Given the description of an element on the screen output the (x, y) to click on. 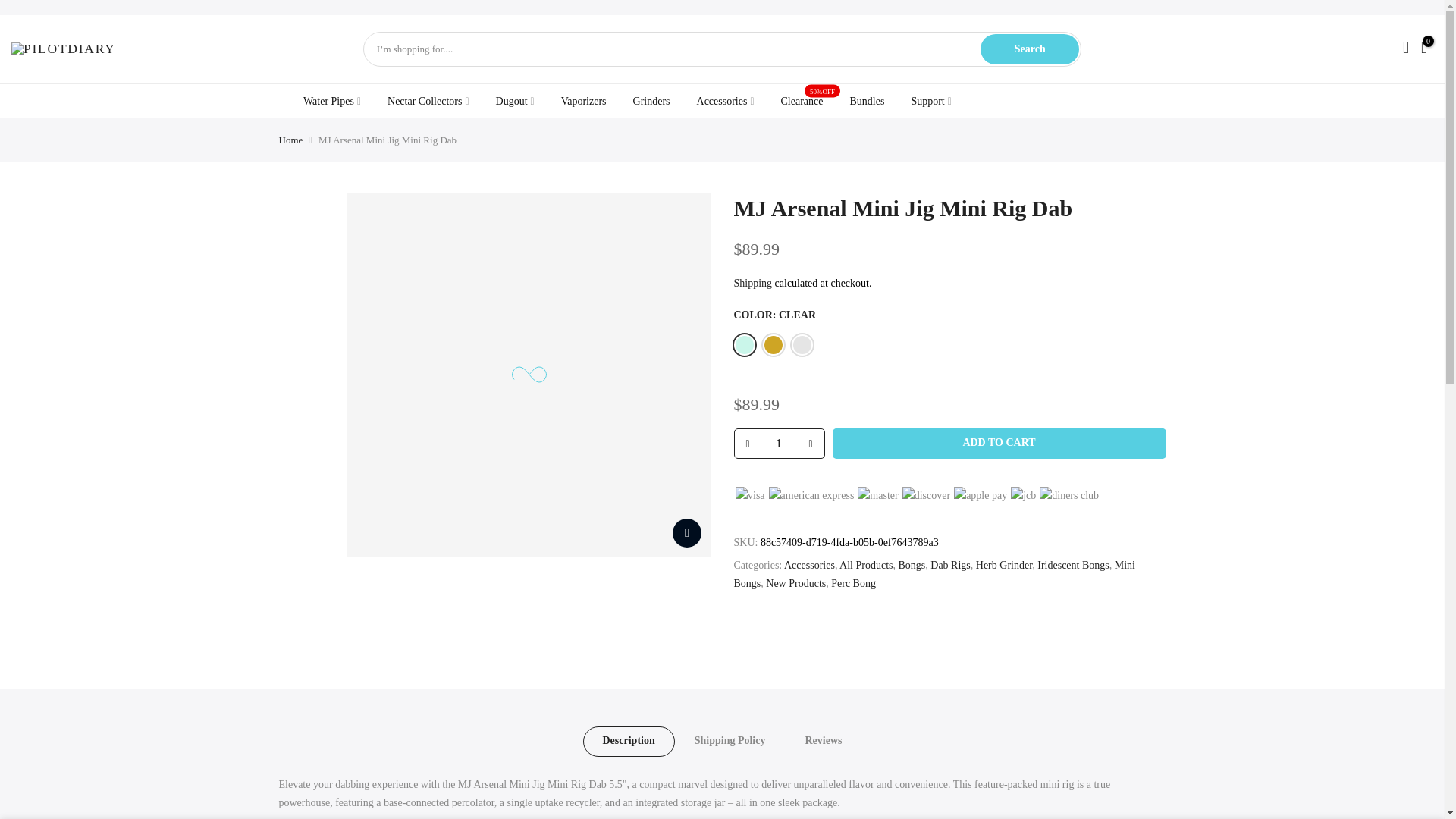
ADD TO CART (999, 442)
Mini Bongs (934, 574)
Nectar Collectors (427, 100)
Accessories (809, 564)
Water Pipes (331, 100)
Bongs (911, 564)
Dab Rigs (950, 564)
1 (778, 443)
New Products (795, 583)
Grinders (651, 100)
